Given the description of an element on the screen output the (x, y) to click on. 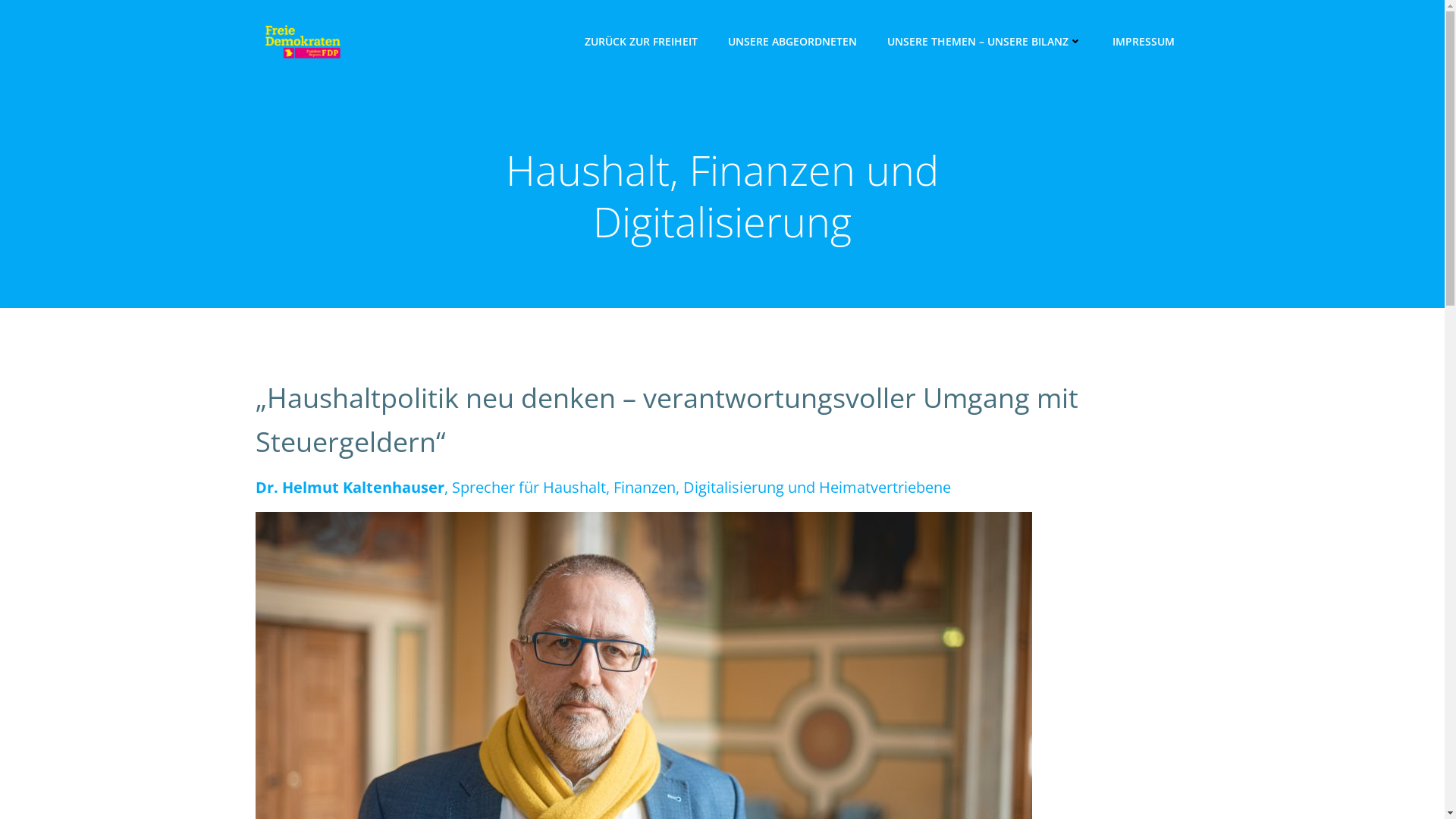
IMPRESSUM Element type: text (1142, 41)
Colibri Element type: text (963, 773)
UNSERE ABGEORDNETEN Element type: text (792, 41)
